Given the description of an element on the screen output the (x, y) to click on. 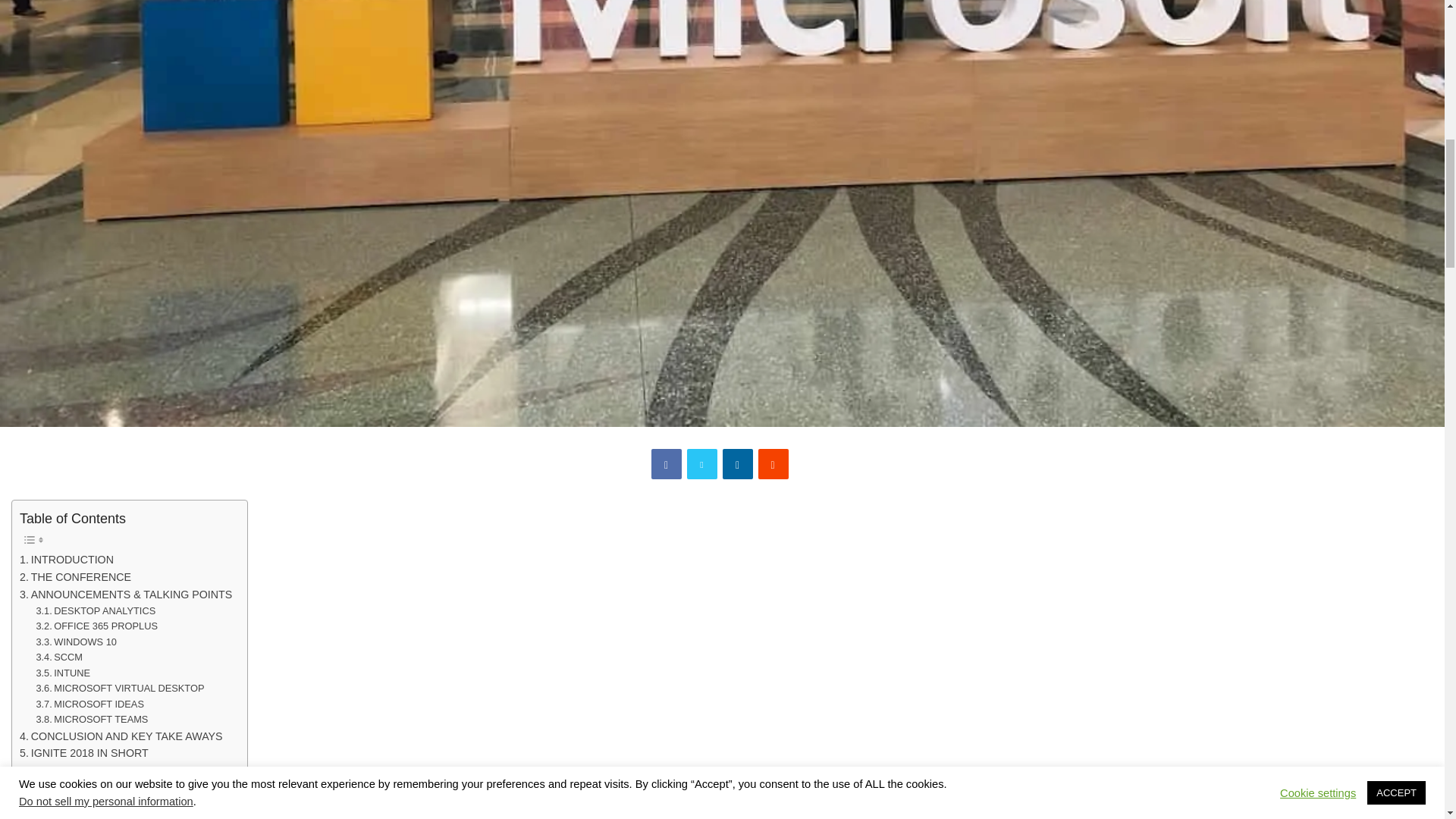
DESKTOP ANALYTICS (94, 611)
INTRODUCTION (66, 559)
MICROSOFT IDEAS (89, 704)
IGNITE 2018 IN SHORT (84, 753)
MICROSOFT TEAMS (91, 719)
MICROSOFT VIRTUAL DESKTOP (118, 688)
Twitter (702, 463)
DESKTOP ANALYTICS (94, 611)
ReddIt (773, 463)
LESSONS LEARNED (77, 770)
INTUNE (62, 673)
THE CONFERENCE (75, 577)
MICROSOFT DOCS (88, 804)
WINDOWS 10 (75, 642)
OFFICE 365 PROPLUS (95, 626)
